Given the description of an element on the screen output the (x, y) to click on. 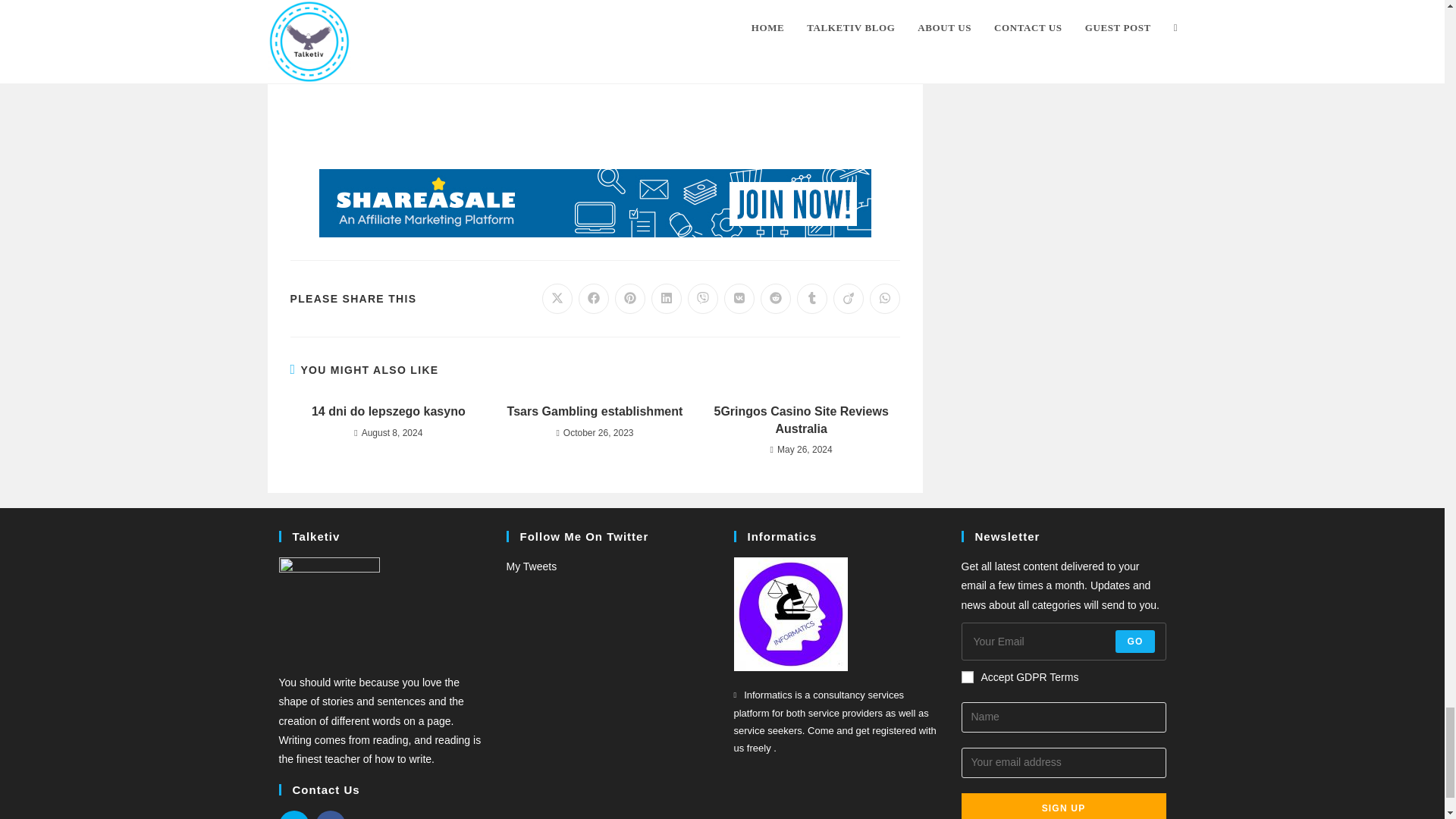
5Gringos Casino Site Reviews Australia (801, 420)
1 (967, 676)
14 dni do lepszego kasyno (387, 411)
Tsars Gambling establishment (594, 411)
